Given the description of an element on the screen output the (x, y) to click on. 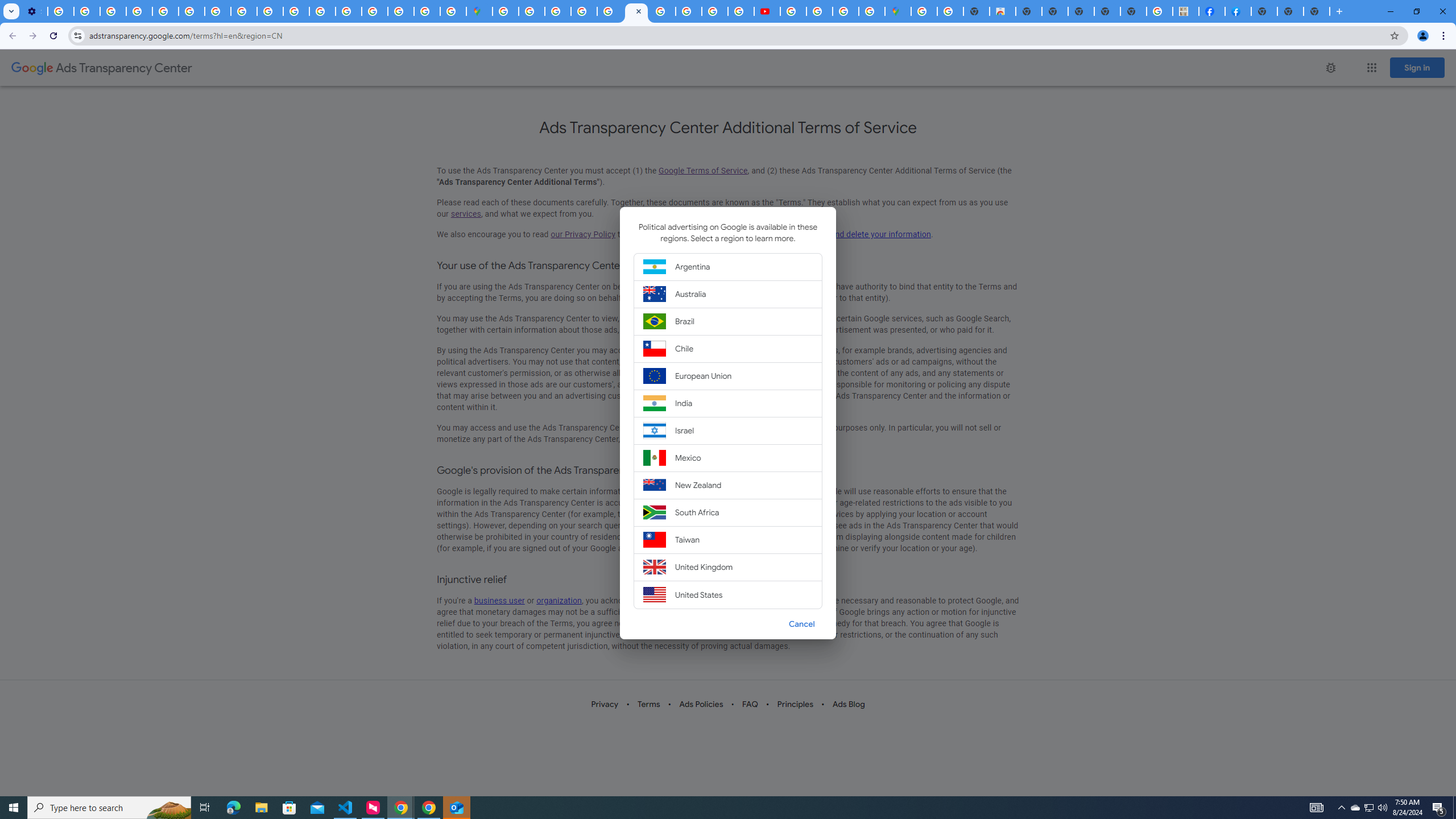
Privacy Help Center - Policies Help (715, 11)
Argentina (727, 266)
Miley Cyrus | Facebook (1211, 11)
New Tab (1264, 11)
Principles (795, 703)
our Privacy Policy (582, 234)
